Given the description of an element on the screen output the (x, y) to click on. 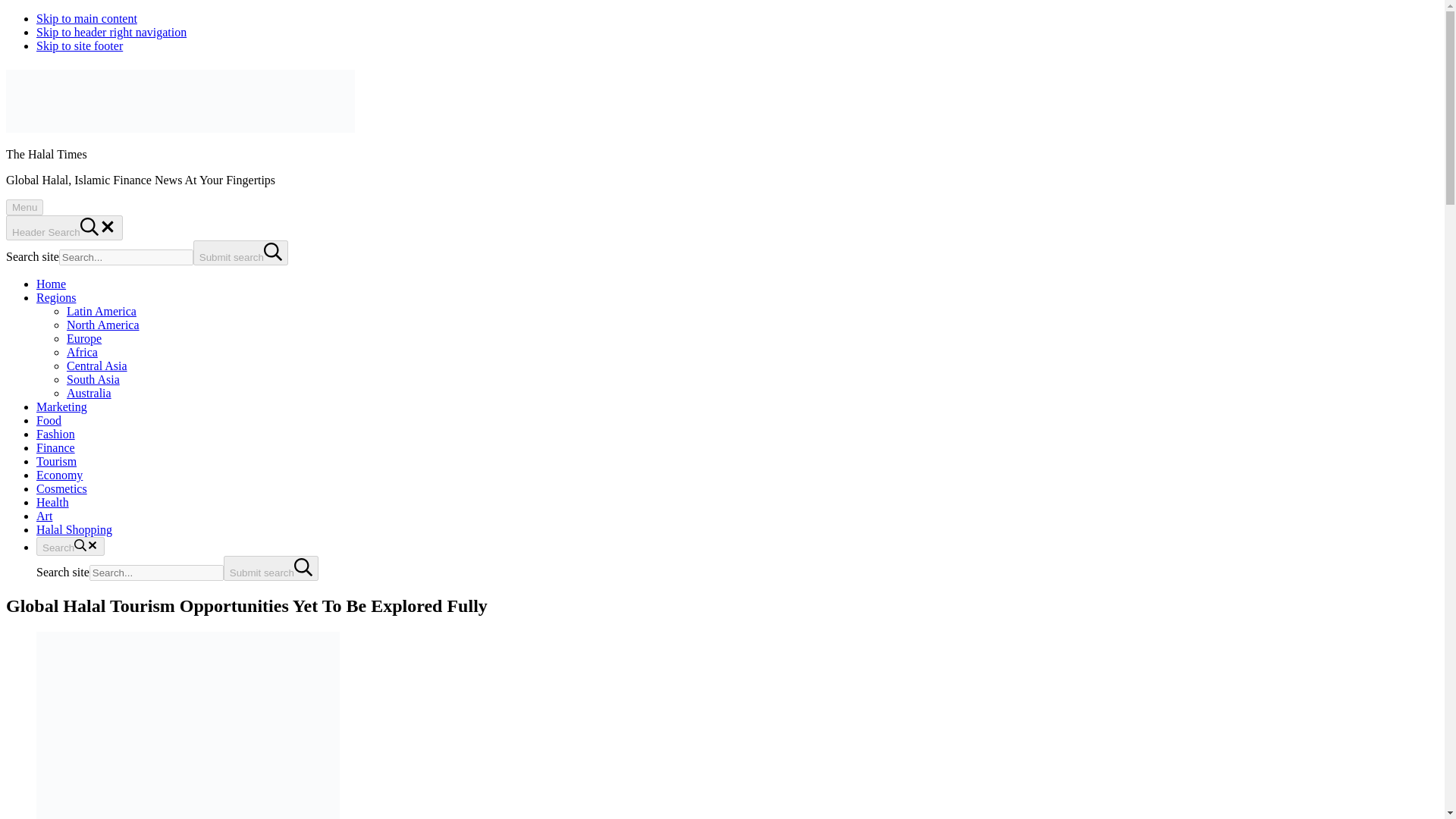
Latin America (101, 310)
Australia (89, 392)
Tourism (56, 461)
Skip to site footer (79, 45)
Submit search (271, 568)
Art (44, 515)
Europe (83, 338)
Header Search (63, 227)
Finance (55, 447)
Skip to header right navigation (111, 31)
